Given the description of an element on the screen output the (x, y) to click on. 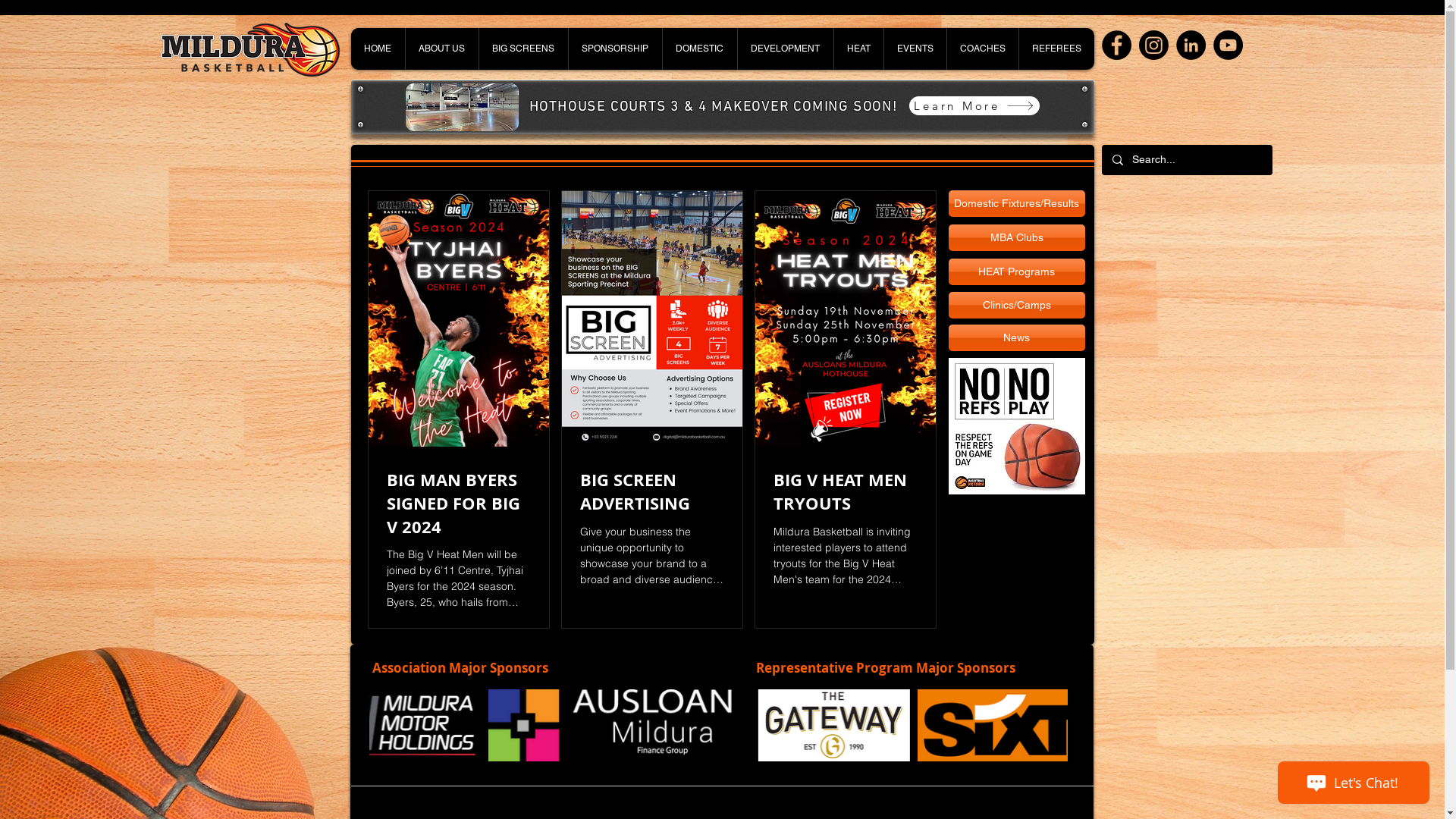
MBA Clubs Element type: text (1015, 237)
HEAT Element type: text (857, 48)
REFEREES Element type: text (1055, 48)
Learn More Element type: text (973, 105)
COACHES Element type: text (982, 48)
BIG V HEAT MEN TRYOUTS Element type: text (845, 491)
Clinics/Camps Element type: text (1015, 304)
HEAT Programs Element type: text (1015, 271)
BIG SCREENS Element type: text (522, 48)
HOME Element type: text (377, 48)
Domestic Fixtures/Results Element type: text (1015, 203)
ABOUT US Element type: text (441, 48)
BIG SCREEN ADVERTISING Element type: text (651, 491)
BIG MAN BYERS SIGNED FOR BIG V 2024 Element type: text (458, 503)
EVENTS Element type: text (913, 48)
News Element type: text (1015, 337)
cRT 3_edited.jpg Element type: hover (460, 107)
DEVELOPMENT Element type: text (785, 48)
DOMESTIC Element type: text (698, 48)
SPONSORSHIP Element type: text (614, 48)
